Given the description of an element on the screen output the (x, y) to click on. 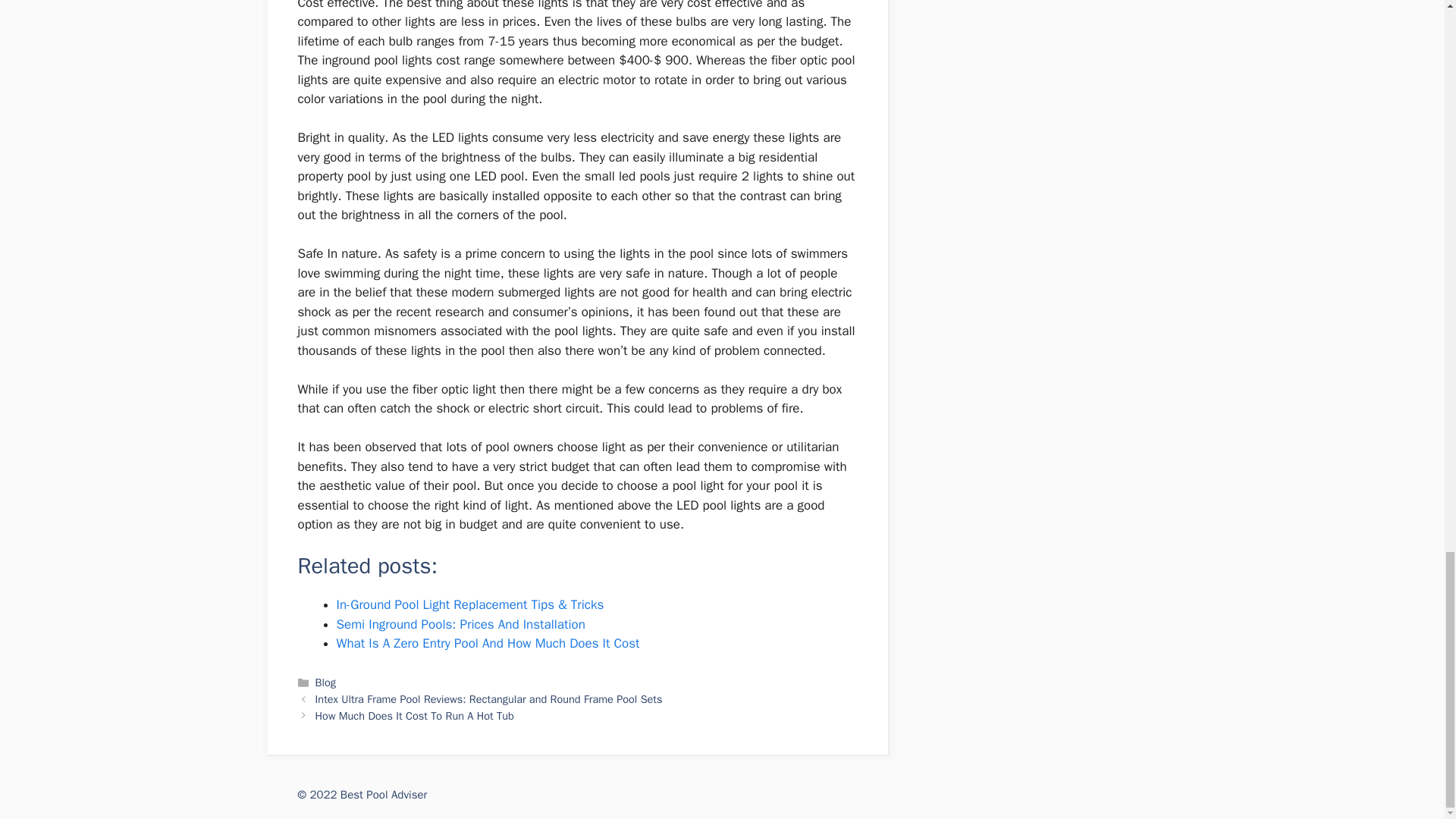
What Is A Zero Entry Pool And How Much Does It Cost (488, 643)
How Much Does It Cost To Run A Hot Tub (414, 715)
Previous (488, 698)
Semi Inground Pools: Prices And Installation (460, 624)
Next (414, 715)
Blog (325, 682)
